Given the description of an element on the screen output the (x, y) to click on. 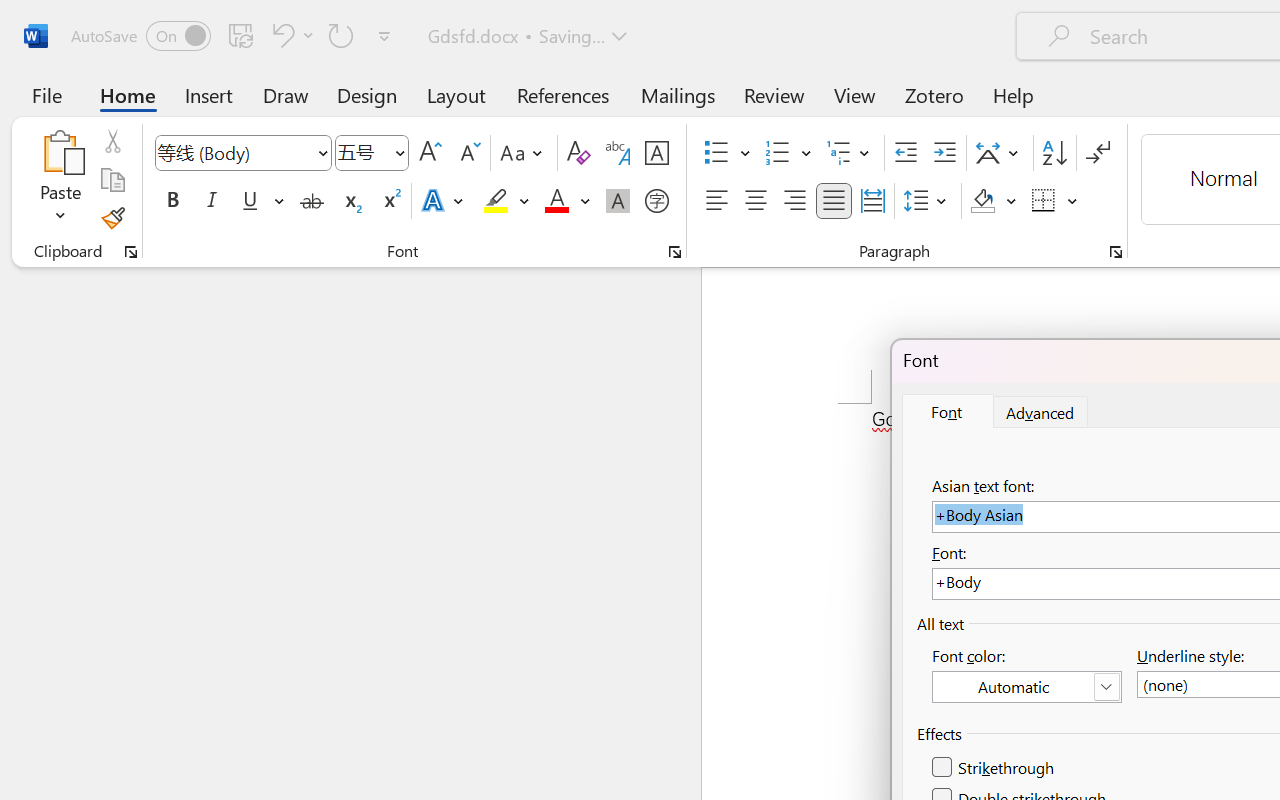
Character Border (656, 153)
Align Left (716, 201)
Strikethrough (994, 767)
Multilevel List (850, 153)
Grow Font (430, 153)
Format Painter (112, 218)
Italic (212, 201)
Sort... (1054, 153)
Text Highlight Color Yellow (495, 201)
Shrink Font (468, 153)
